Given the description of an element on the screen output the (x, y) to click on. 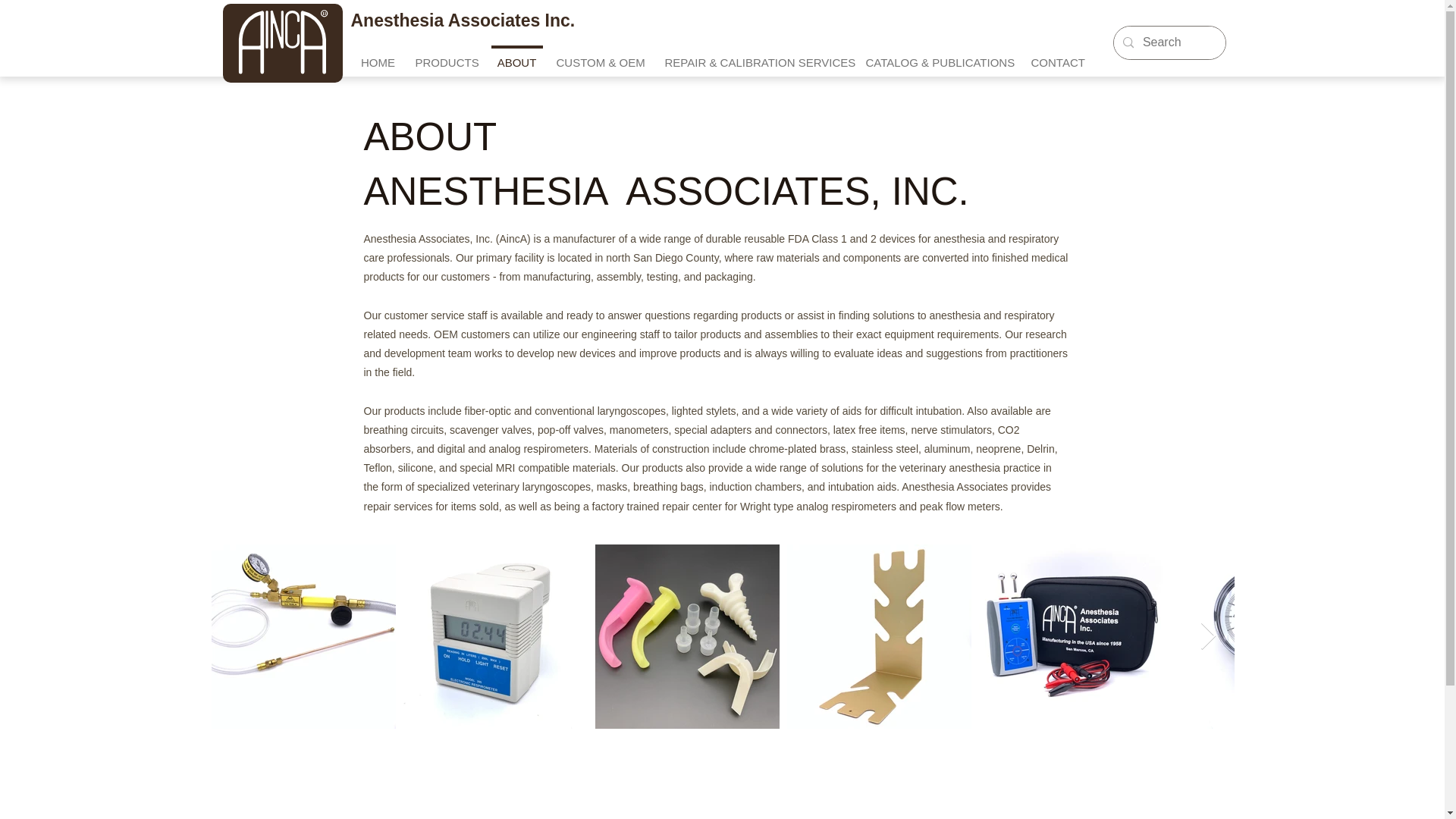
R (282, 40)
ABOUT (516, 55)
CONTACT (1056, 55)
R (282, 40)
PRODUCTS (445, 55)
HOME (377, 55)
Anesthesia  (398, 20)
